Given the description of an element on the screen output the (x, y) to click on. 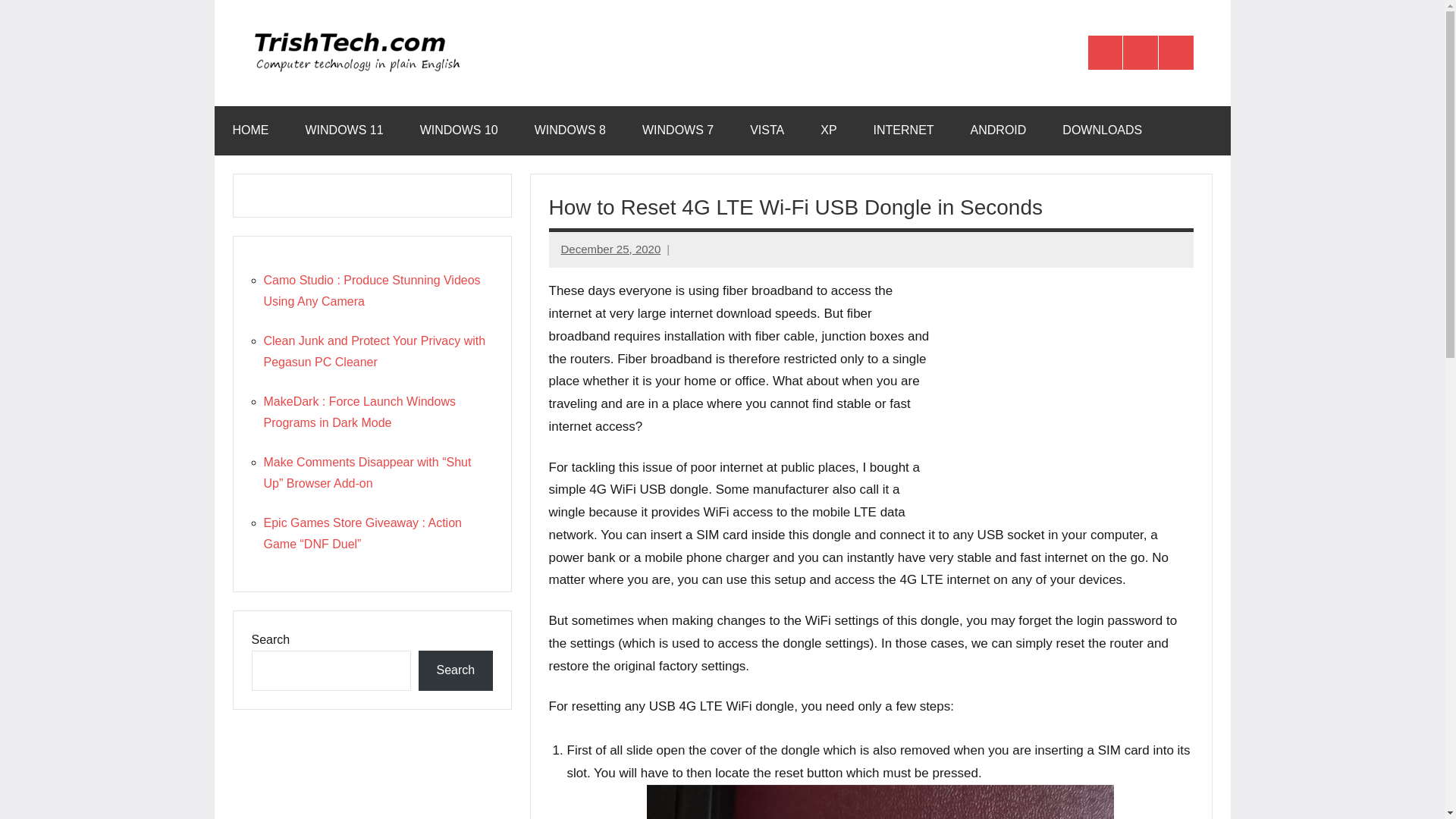
December 25, 2020 (610, 248)
X (1139, 53)
ANDROID (998, 130)
MakeDark : Force Launch Windows Programs in Dark Mode (359, 411)
Search (455, 670)
INTERNET (904, 130)
WINDOWS 7 (678, 130)
YouTube (1175, 53)
DOWNLOADS (1101, 130)
WINDOWS 11 (343, 130)
